Given the description of an element on the screen output the (x, y) to click on. 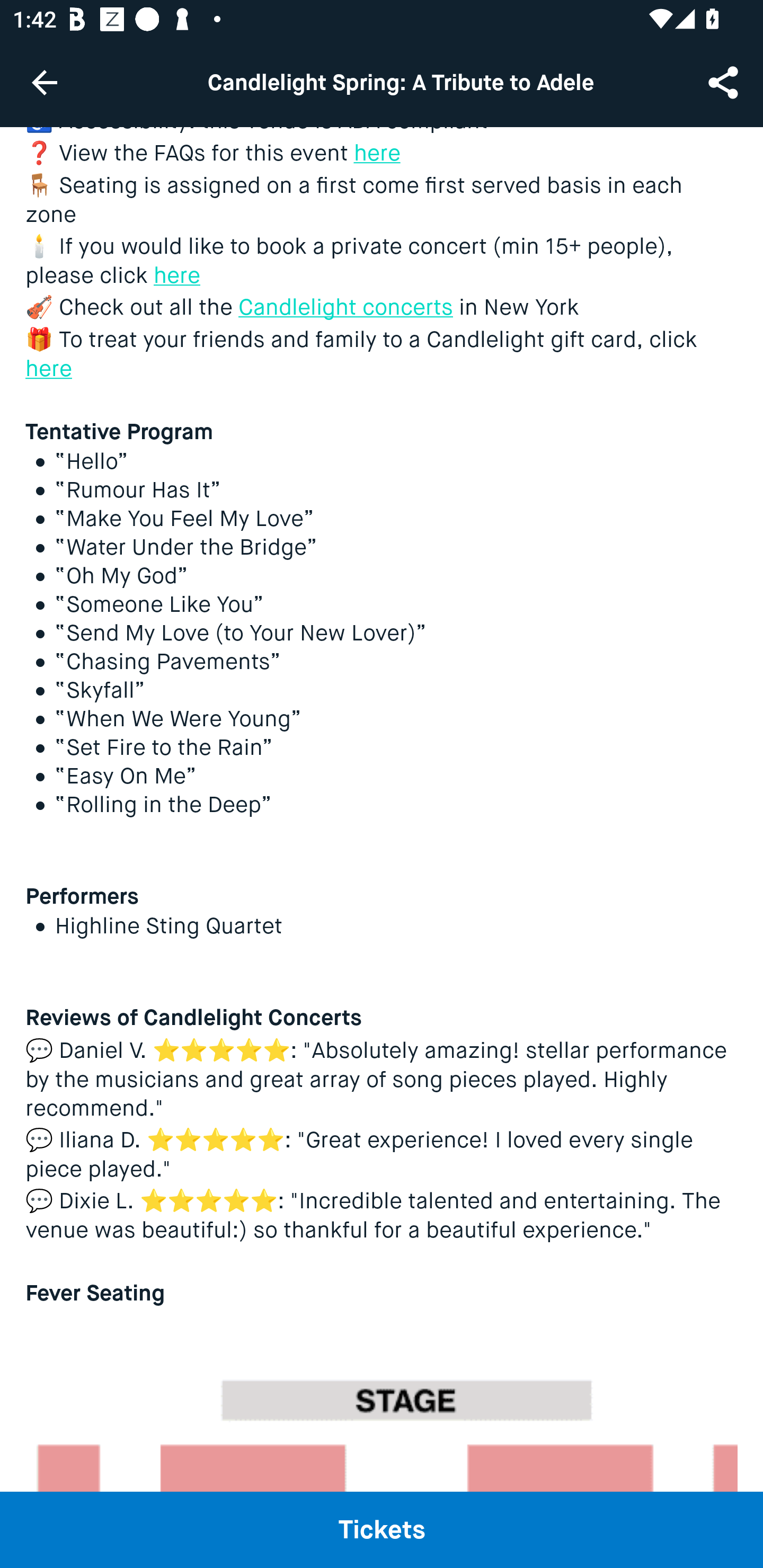
Navigate up (44, 82)
Share (724, 81)
Tickets (381, 1529)
